Given the description of an element on the screen output the (x, y) to click on. 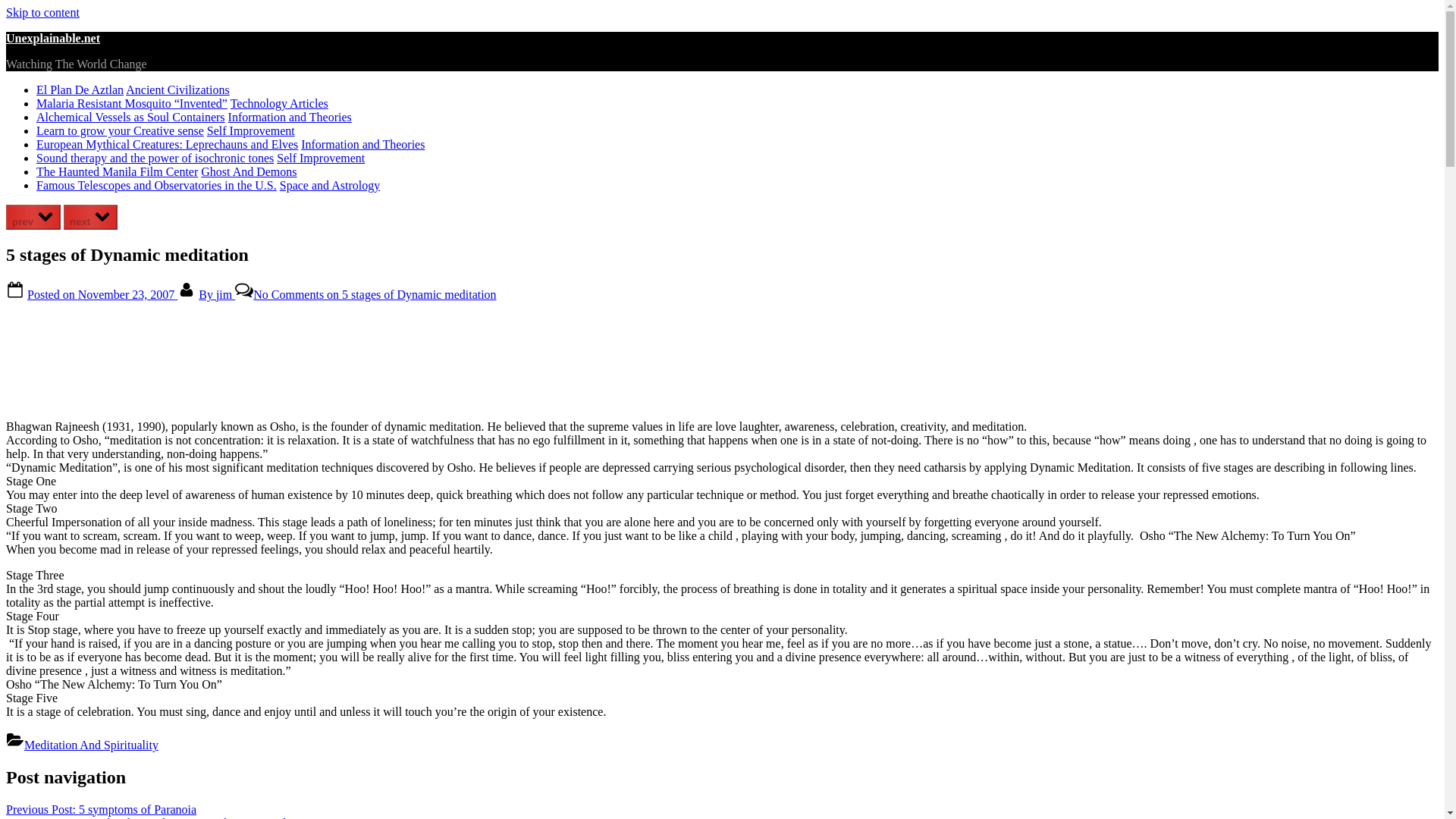
Ghost And Demons (248, 171)
Self Improvement (250, 130)
Previous Post: 5 symptoms of Paranoia (100, 809)
Information and Theories (290, 116)
Space and Astrology (329, 185)
Famous Telescopes and Observatories in the U.S. (156, 185)
The Haunted Manila Film Center (117, 171)
Alchemical Vessels as Soul Containers (130, 116)
Meditation And Spirituality (91, 744)
El Plan De Aztlan (79, 89)
European Mythical Creatures: Leprechauns and Elves (167, 144)
Information and Theories (363, 144)
Unexplainable.net (52, 38)
Sound therapy and the power of isochronic tones (154, 157)
next (90, 217)
